Given the description of an element on the screen output the (x, y) to click on. 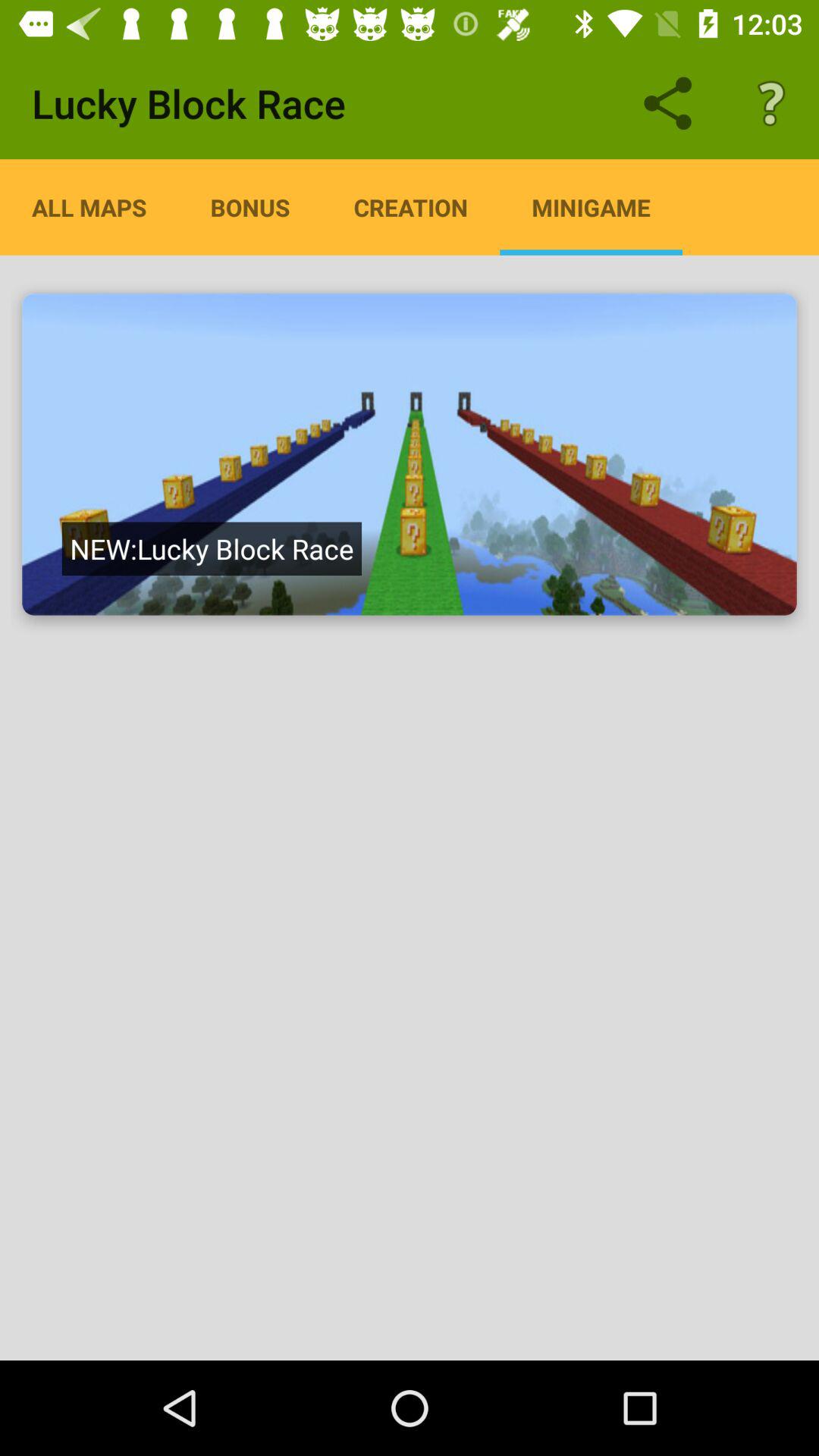
tap new lucky block on the left (211, 548)
